Given the description of an element on the screen output the (x, y) to click on. 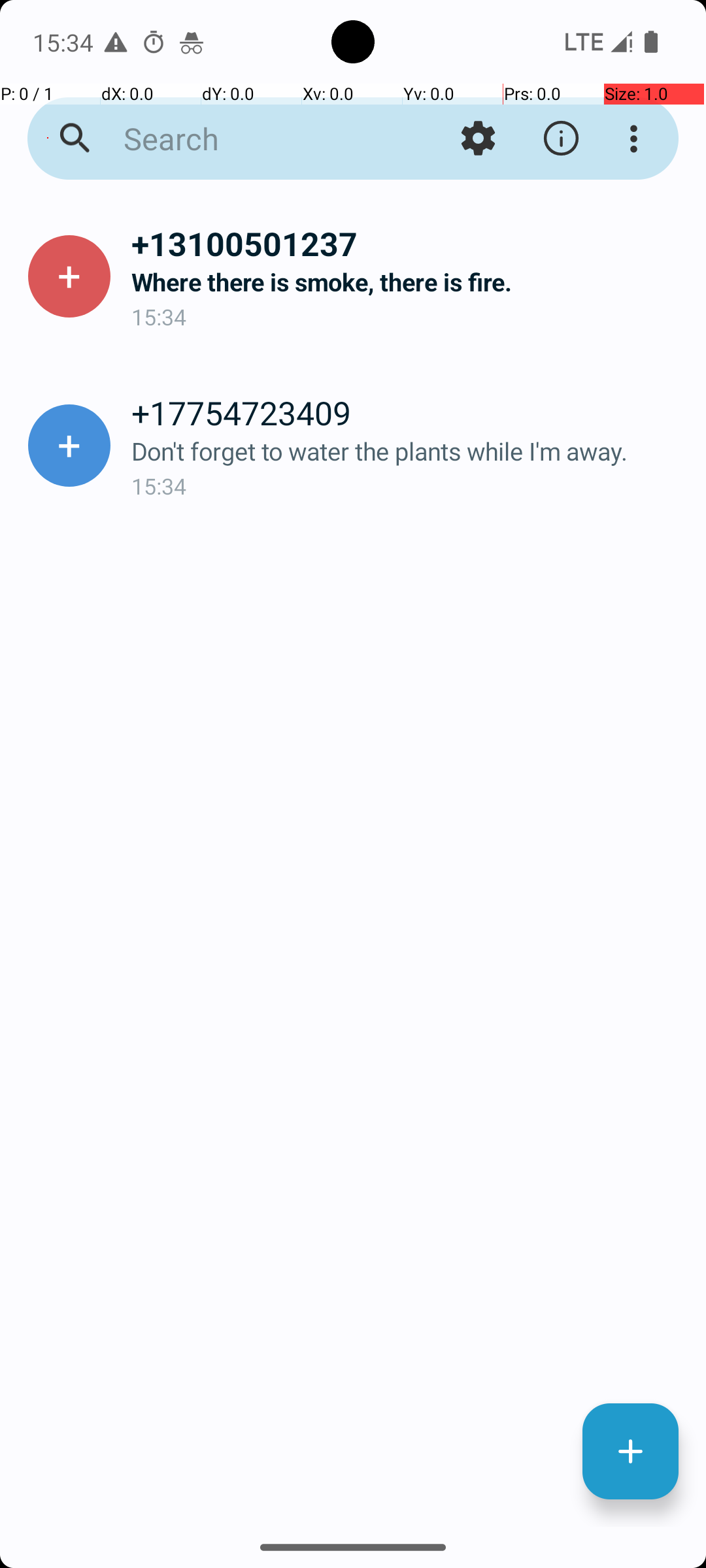
+13100501237 Element type: android.widget.TextView (408, 242)
Where there is smoke, there is fire. Element type: android.widget.TextView (408, 281)
+17754723409 Element type: android.widget.TextView (408, 412)
Don't forget to water the plants while I'm away. Element type: android.widget.TextView (408, 450)
